Given the description of an element on the screen output the (x, y) to click on. 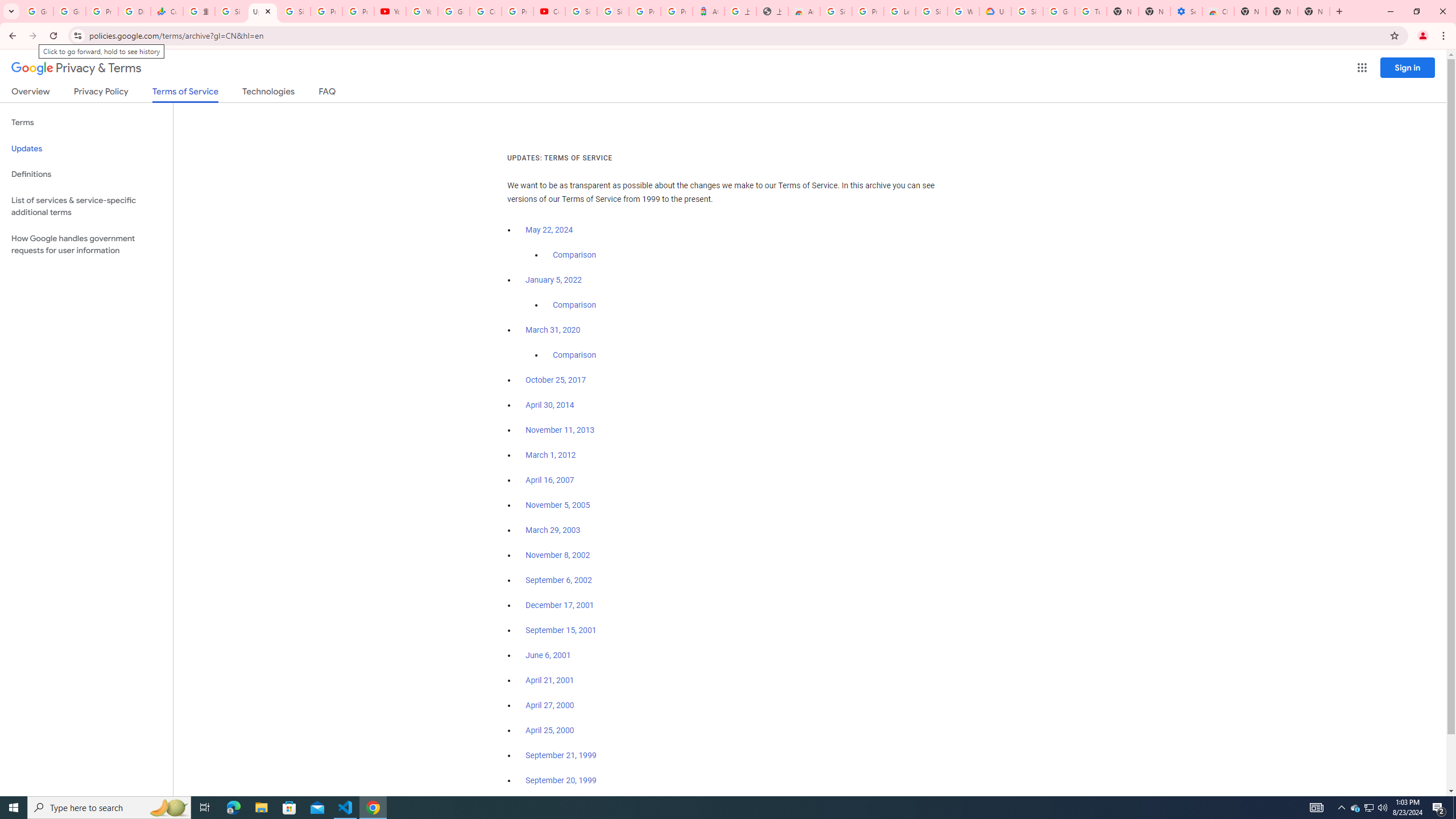
March 31, 2020 (552, 330)
Currencies - Google Finance (166, 11)
YouTube (421, 11)
Awesome Screen Recorder & Screenshot - Chrome Web Store (804, 11)
June 6, 2001 (547, 655)
October 25, 2017 (555, 380)
March 1, 2012 (550, 455)
November 11, 2013 (560, 430)
Atour Hotel - Google hotels (708, 11)
